Given the description of an element on the screen output the (x, y) to click on. 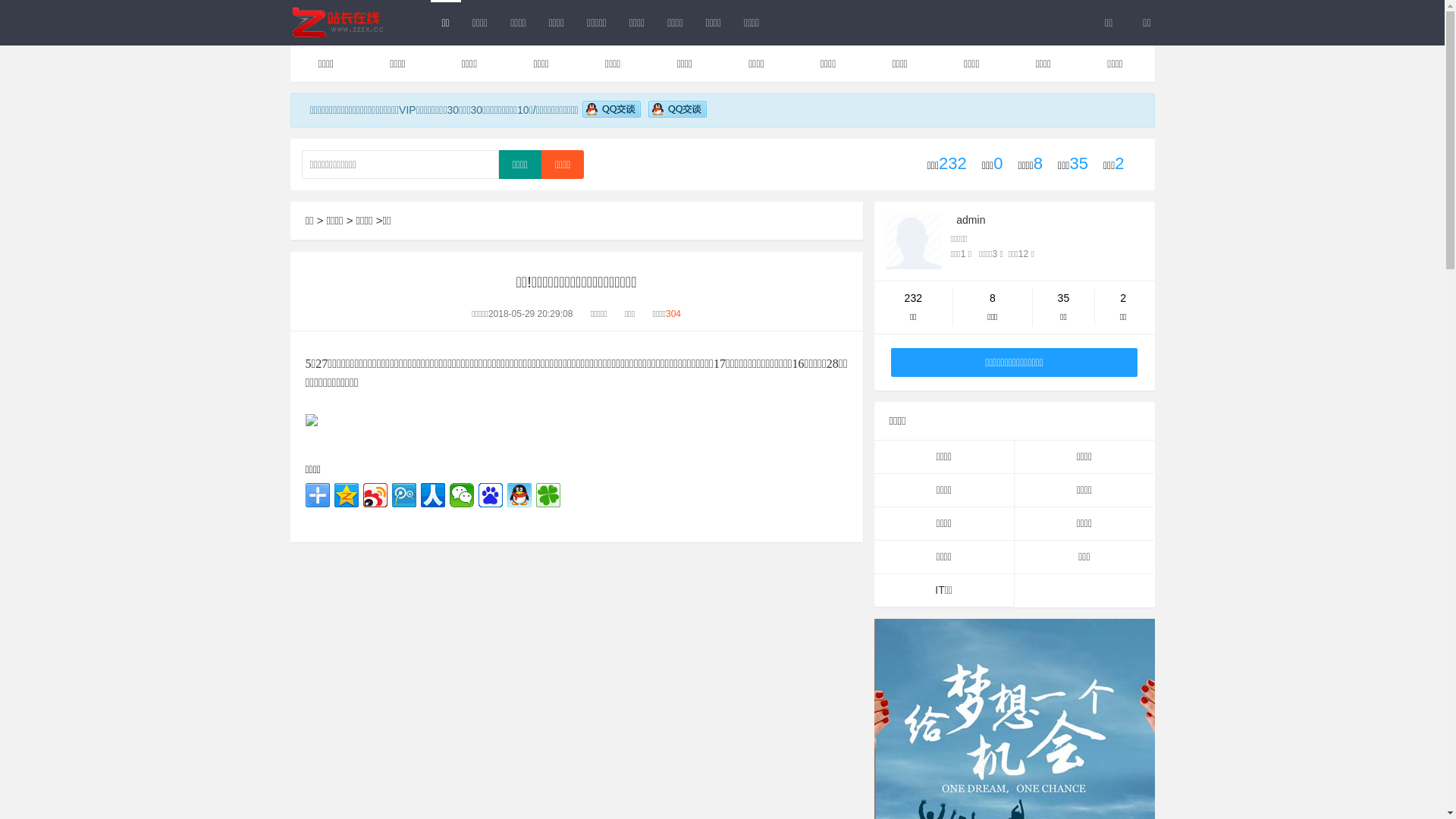
admin Element type: text (970, 219)
